Given the description of an element on the screen output the (x, y) to click on. 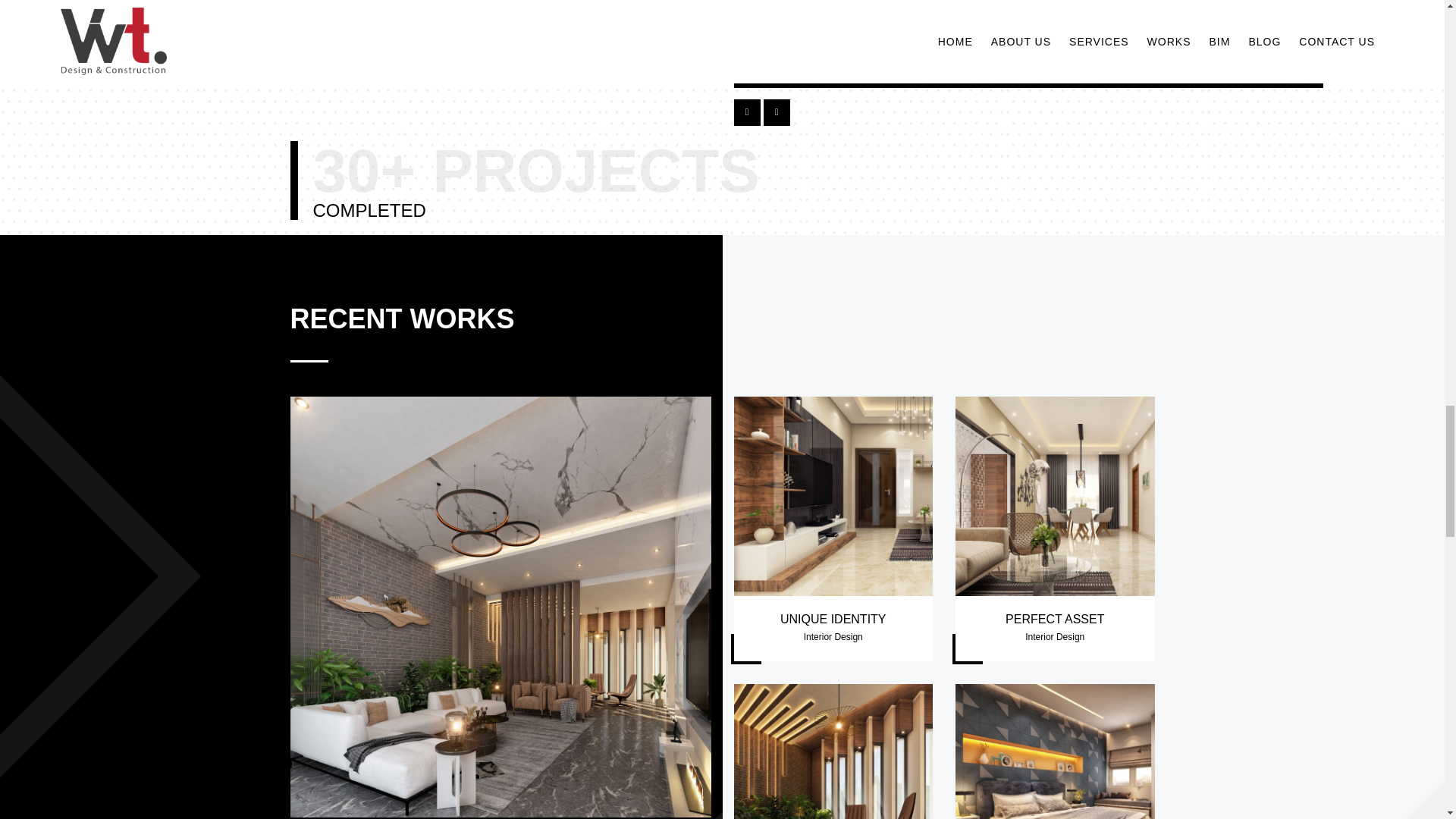
UNIQUE IDENTITY (833, 618)
PERFECT ASSET (1054, 618)
